Given the description of an element on the screen output the (x, y) to click on. 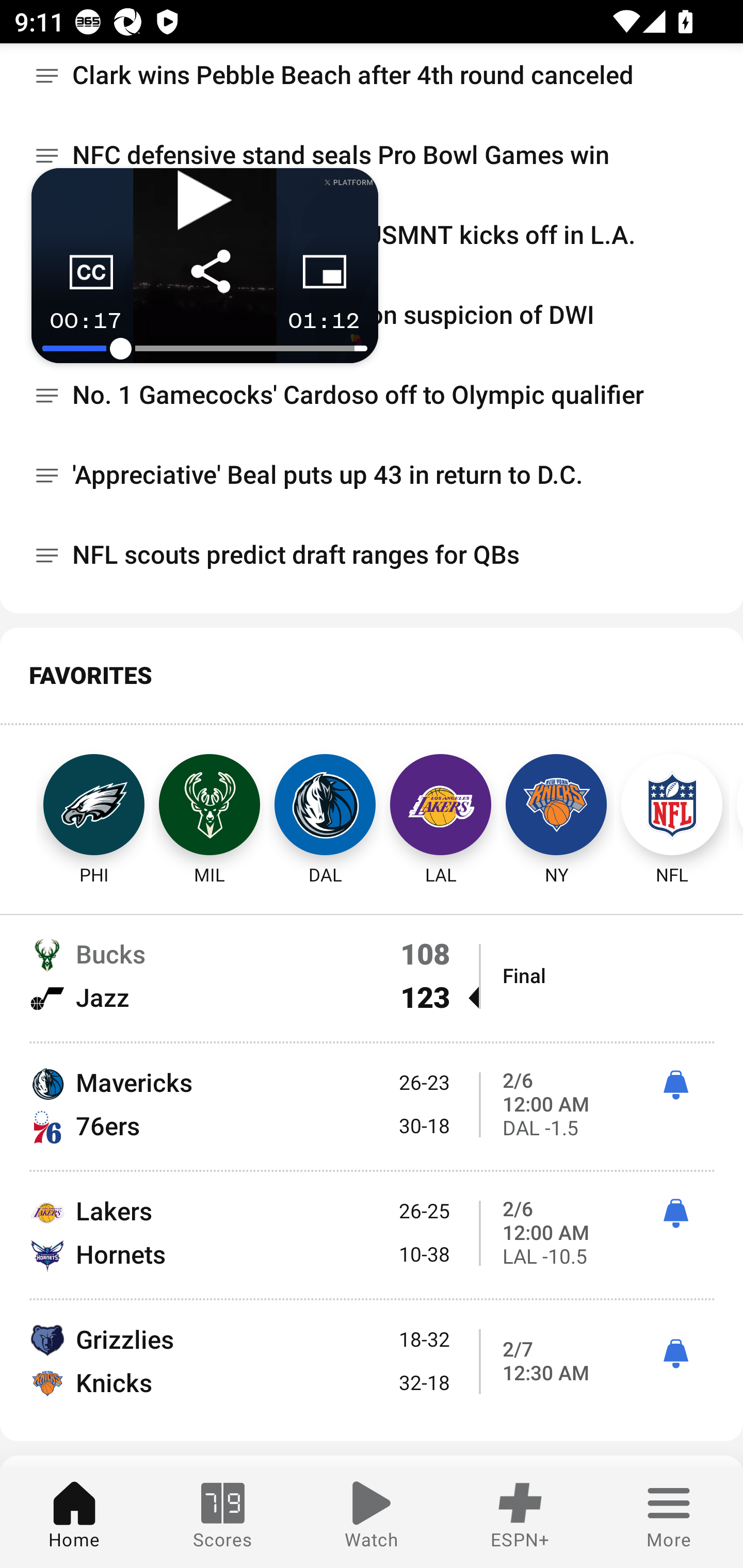
 Clark wins Pebble Beach after 4th round canceled (371, 79)
 NFC defensive stand seals Pro Bowl Games win (371, 156)
 'Appreciative' Beal puts up 43 in return to D.C. (371, 475)
 NFL scouts predict draft ranges for QBs (371, 555)
PHI Philadelphia Eagles (75, 804)
MIL Milwaukee Bucks (209, 804)
DAL Dallas Mavericks (324, 804)
LAL Los Angeles Lakers (440, 804)
NY New York Knicks (555, 804)
NFL (671, 804)
Bucks 108 Jazz 123  Final (371, 976)
ì (675, 1085)
ì (675, 1213)
Grizzlies 18-32 Knicks 32-18 2/7 12:30 AM ì (371, 1359)
ì (675, 1353)
Scores (222, 1517)
Watch (371, 1517)
ESPN+ (519, 1517)
More (668, 1517)
